Given the description of an element on the screen output the (x, y) to click on. 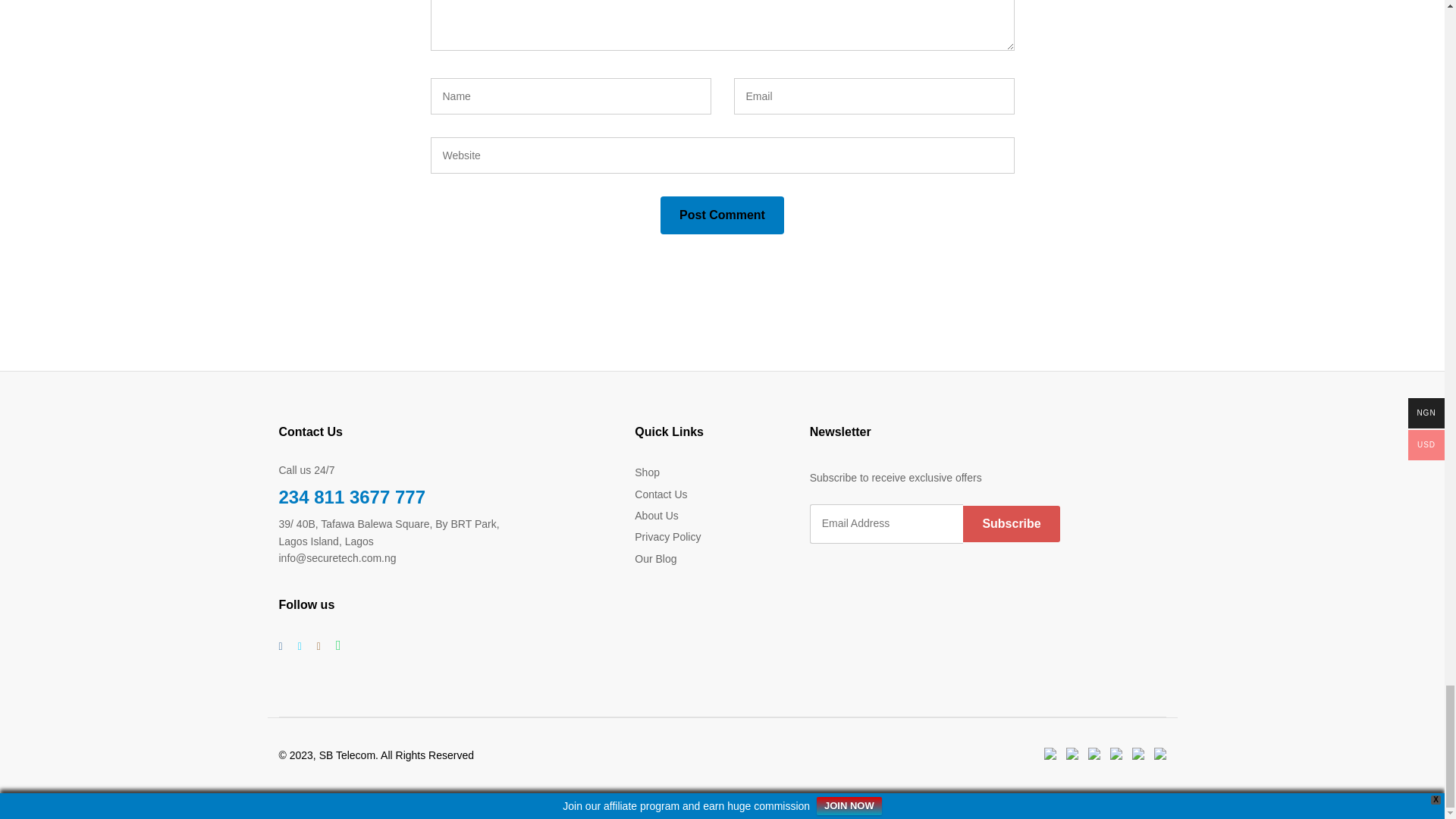
Instagram (318, 646)
Subscribe (1010, 524)
Post Comment (722, 215)
Twitter (298, 646)
Facebook (279, 646)
Whatsapp (339, 645)
